Given the description of an element on the screen output the (x, y) to click on. 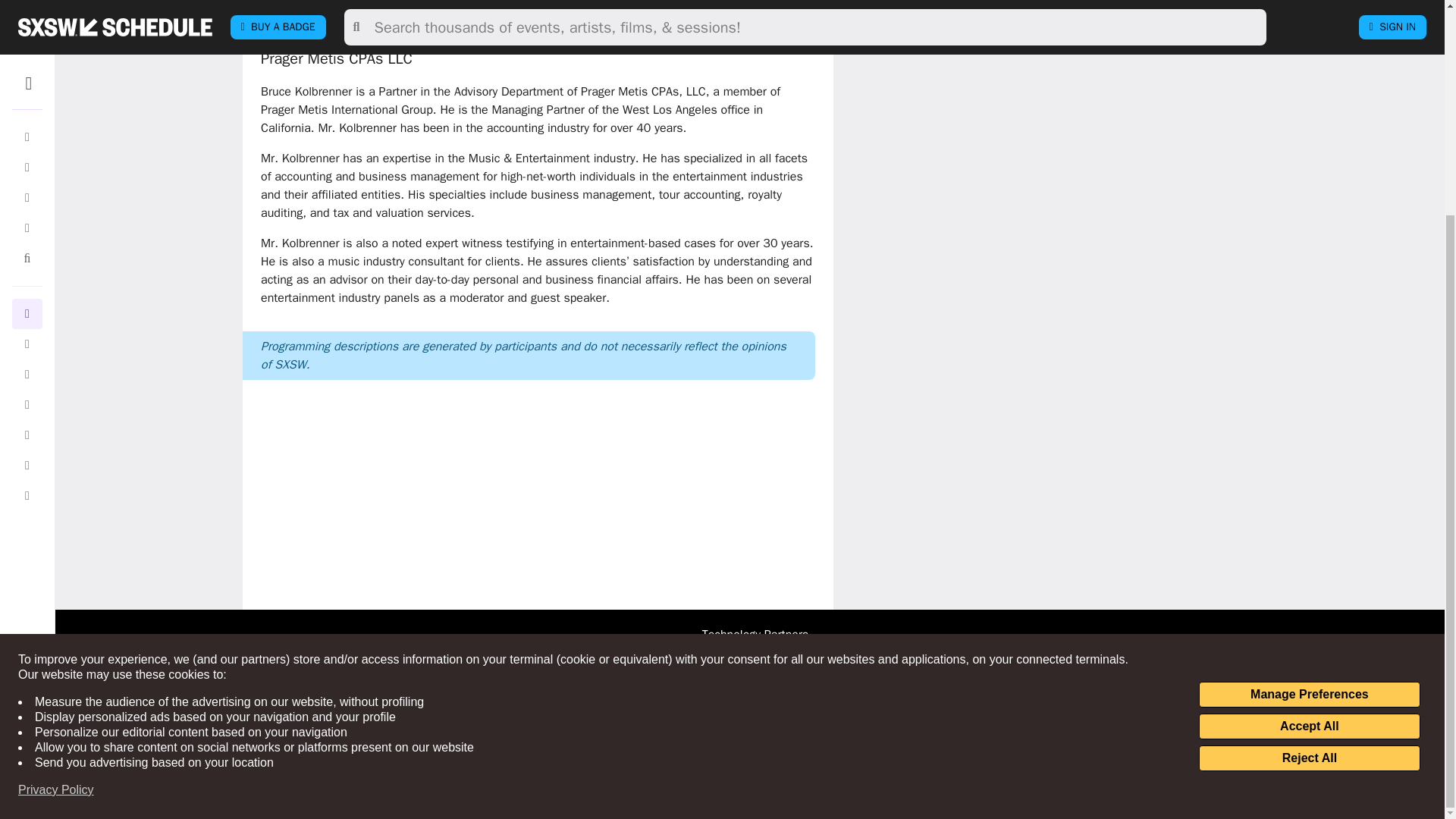
Reject All (1309, 475)
Privacy Policy (55, 507)
Accept All (1309, 444)
Manage Preferences (1309, 412)
